Given the description of an element on the screen output the (x, y) to click on. 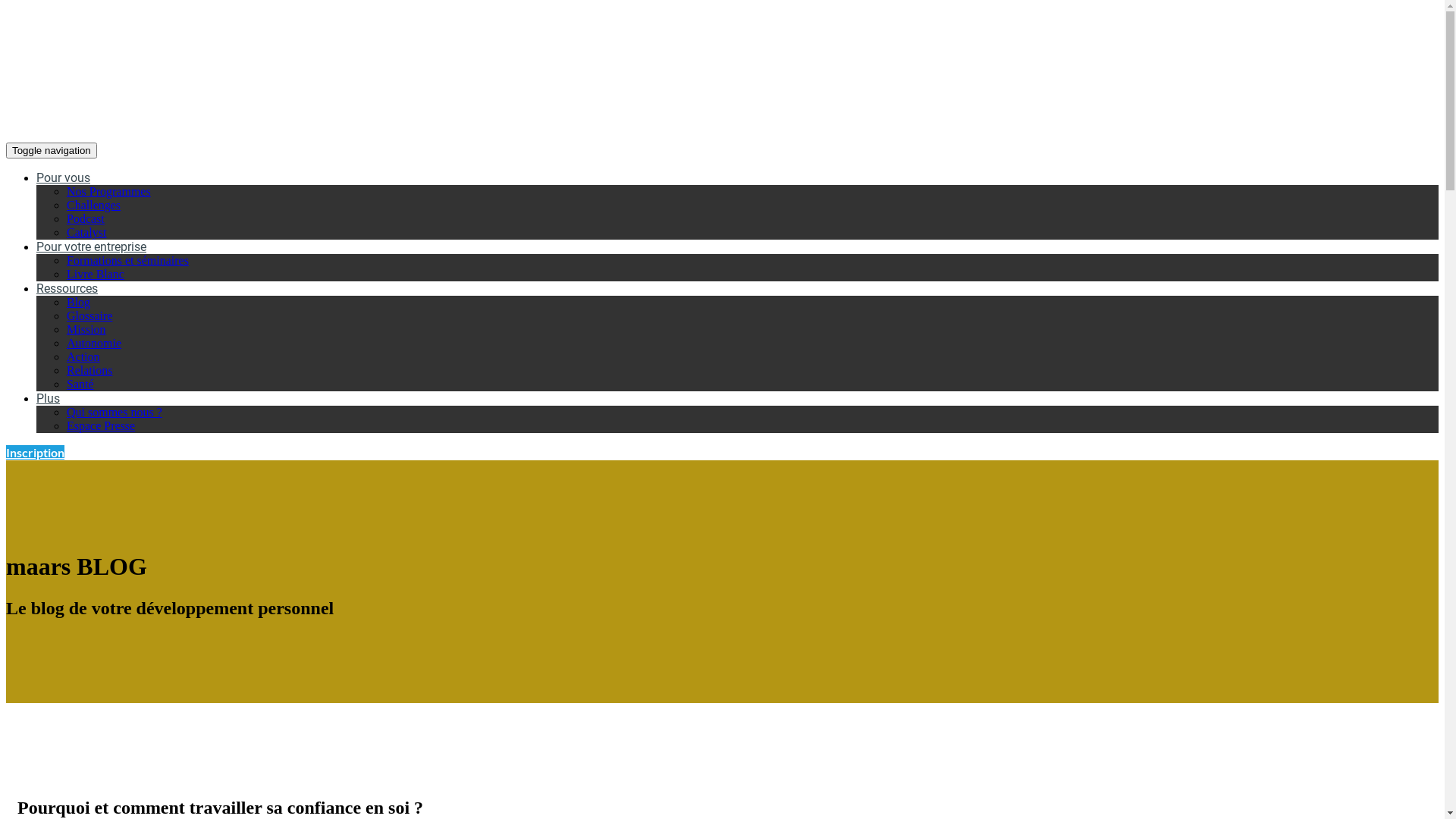
Catalyst Element type: text (86, 231)
Pour vous Element type: text (63, 177)
Espace Presse Element type: text (100, 425)
Plus Element type: text (47, 398)
Pour votre entreprise Element type: text (91, 246)
Blog Element type: text (78, 301)
Autonomie Element type: text (93, 342)
Mission Element type: text (86, 329)
Action Element type: text (83, 356)
Ressources Element type: text (66, 288)
Qui sommes nous ? Element type: text (114, 411)
Toggle navigation Element type: text (51, 150)
Glossaire Element type: text (89, 315)
Podcast Element type: text (85, 218)
Nos Programmes Element type: text (108, 191)
Livre Blanc Element type: text (95, 273)
Inscription Element type: text (35, 452)
Challenges Element type: text (93, 204)
Relations Element type: text (89, 370)
